Given the description of an element on the screen output the (x, y) to click on. 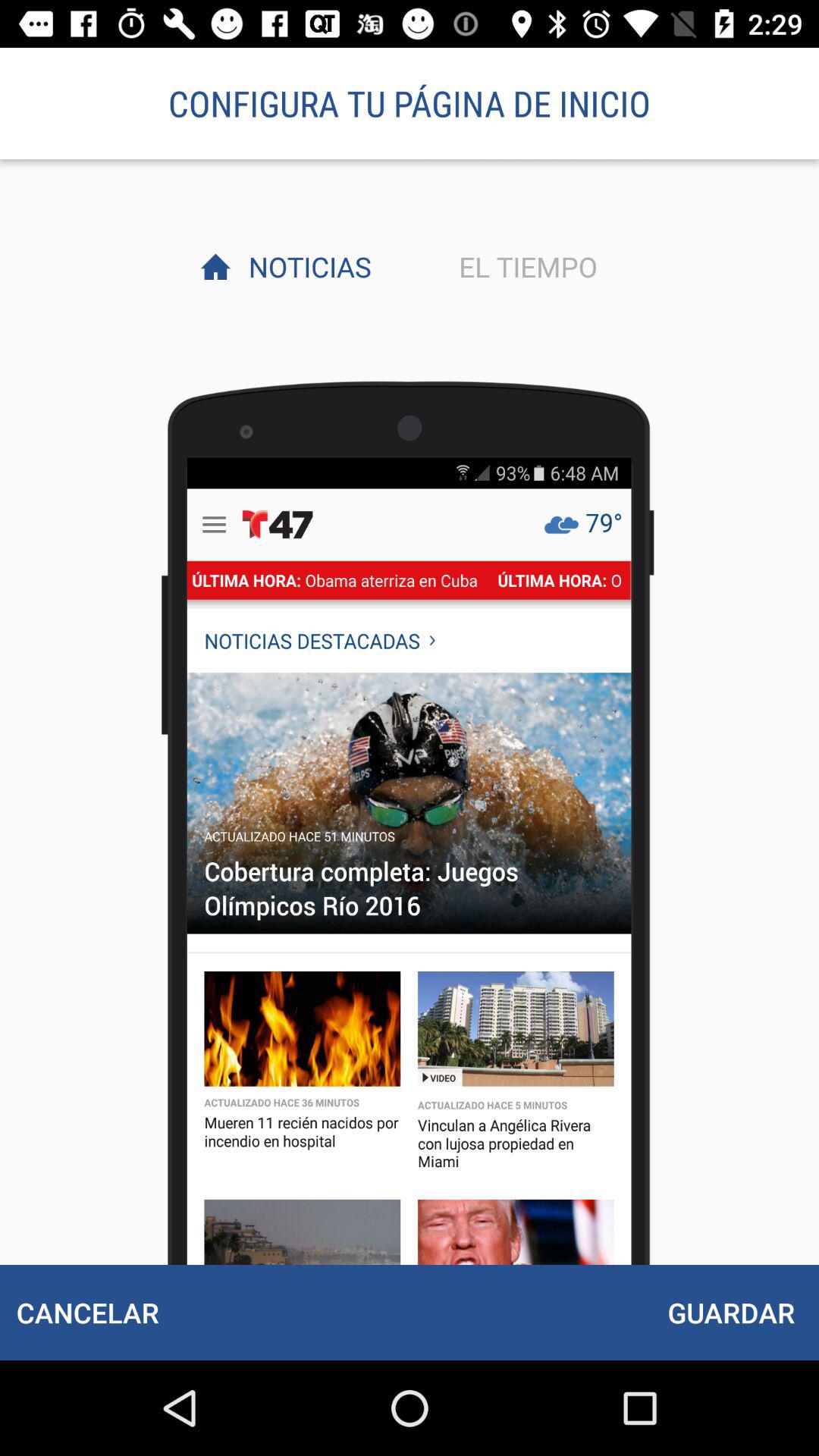
select item below el tiempo (731, 1312)
